Given the description of an element on the screen output the (x, y) to click on. 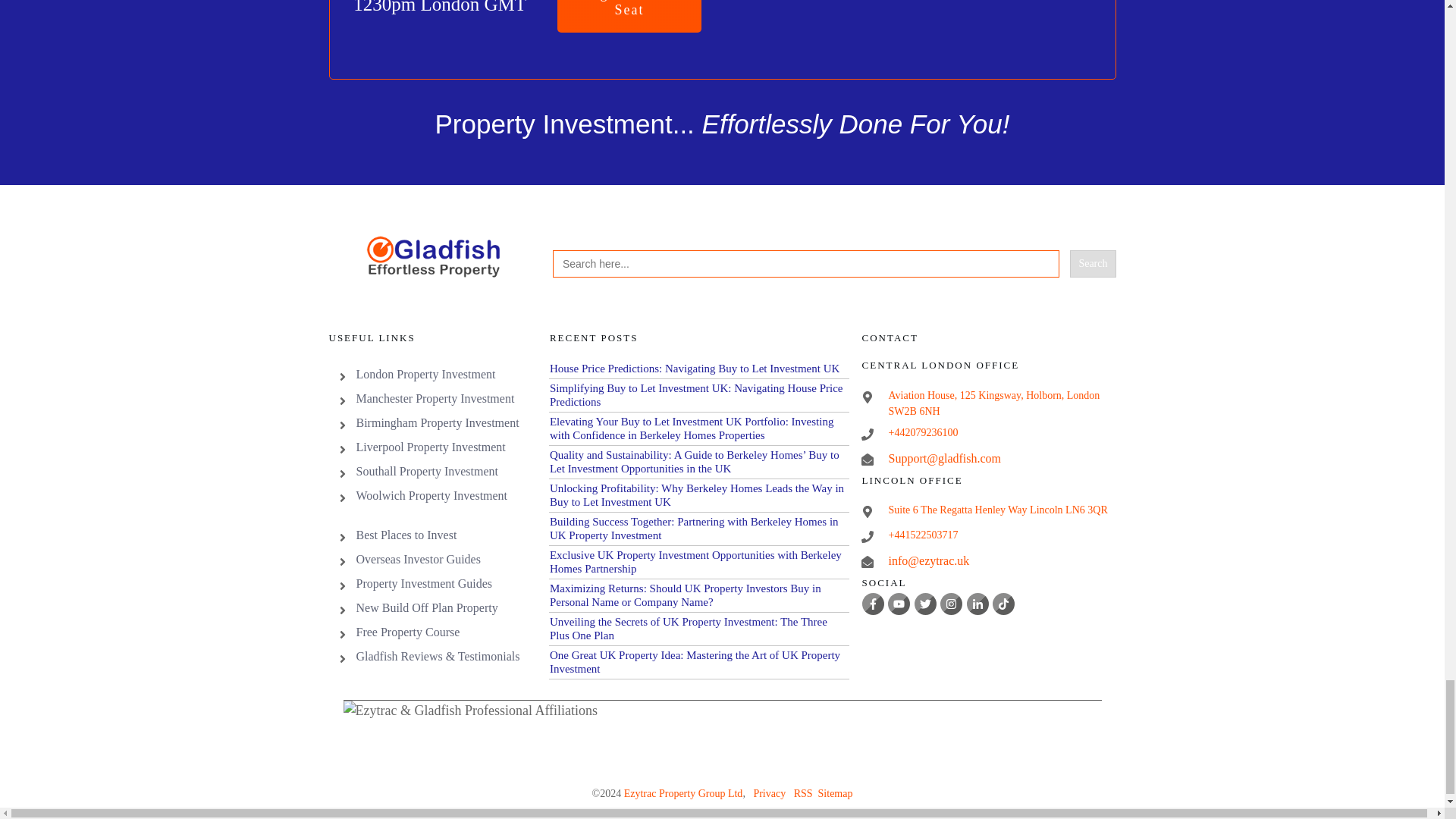
Search (1092, 263)
Search (1092, 263)
